Given the description of an element on the screen output the (x, y) to click on. 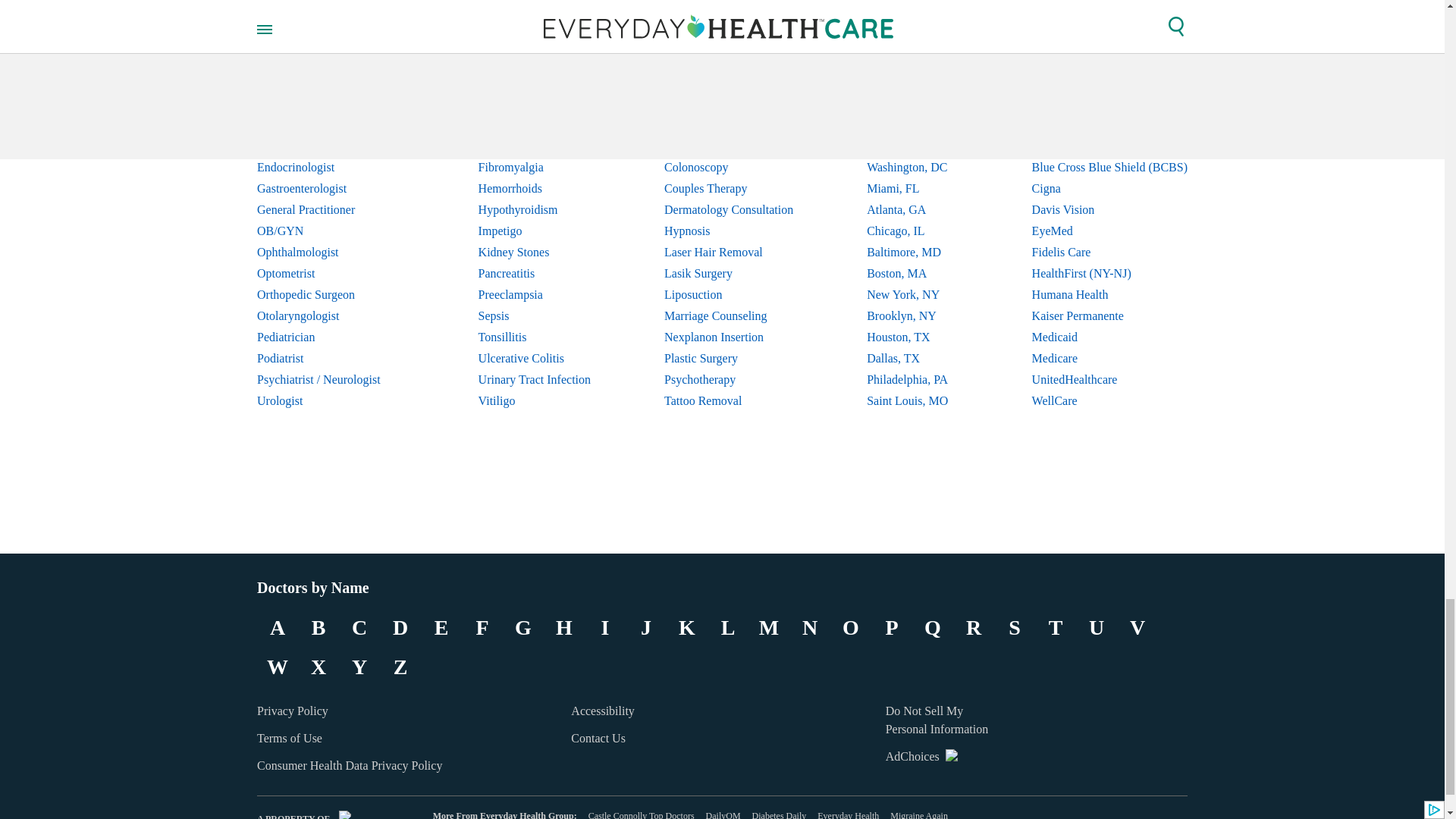
Addiction Medicine Specialist (330, 103)
Cardiologist (330, 124)
General Practitioner (330, 209)
Ophthalmologist (330, 251)
Pediatrician (330, 337)
Podiatrist (330, 358)
Otolaryngologist (330, 315)
Optometrist (330, 273)
Gastroenterologist (330, 188)
Orthopedic Surgeon (330, 294)
Endocrinologist (330, 167)
Dermatologist (330, 146)
